Given the description of an element on the screen output the (x, y) to click on. 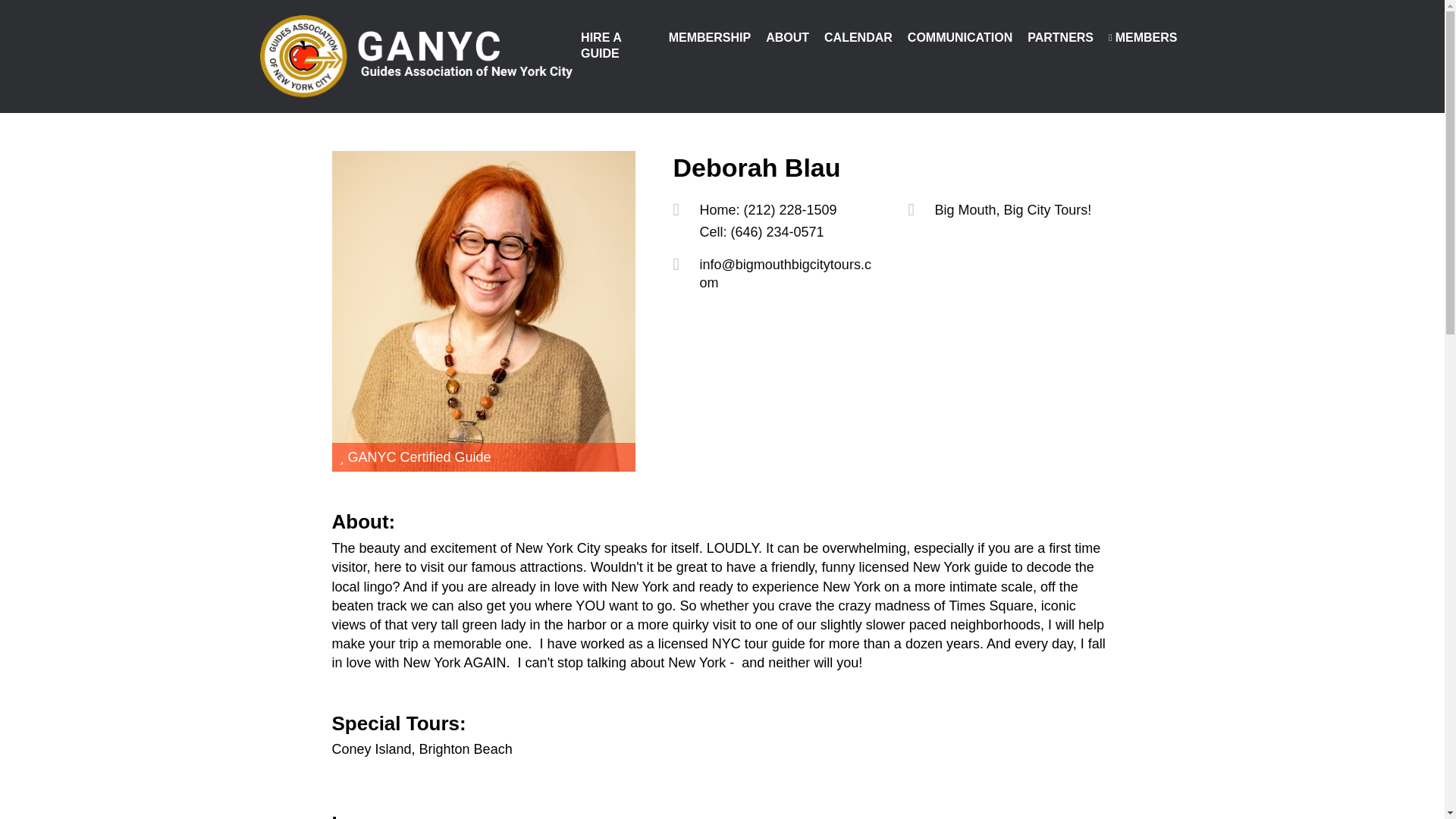
MEMBERS (1142, 37)
CALENDAR (858, 37)
PARTNERS (1060, 37)
MEMBERSHIP (709, 37)
COMMUNICATION (959, 37)
ABOUT (787, 37)
Big Mouth, Big City Tours! (1012, 209)
HIRE A GUIDE (616, 46)
